Given the description of an element on the screen output the (x, y) to click on. 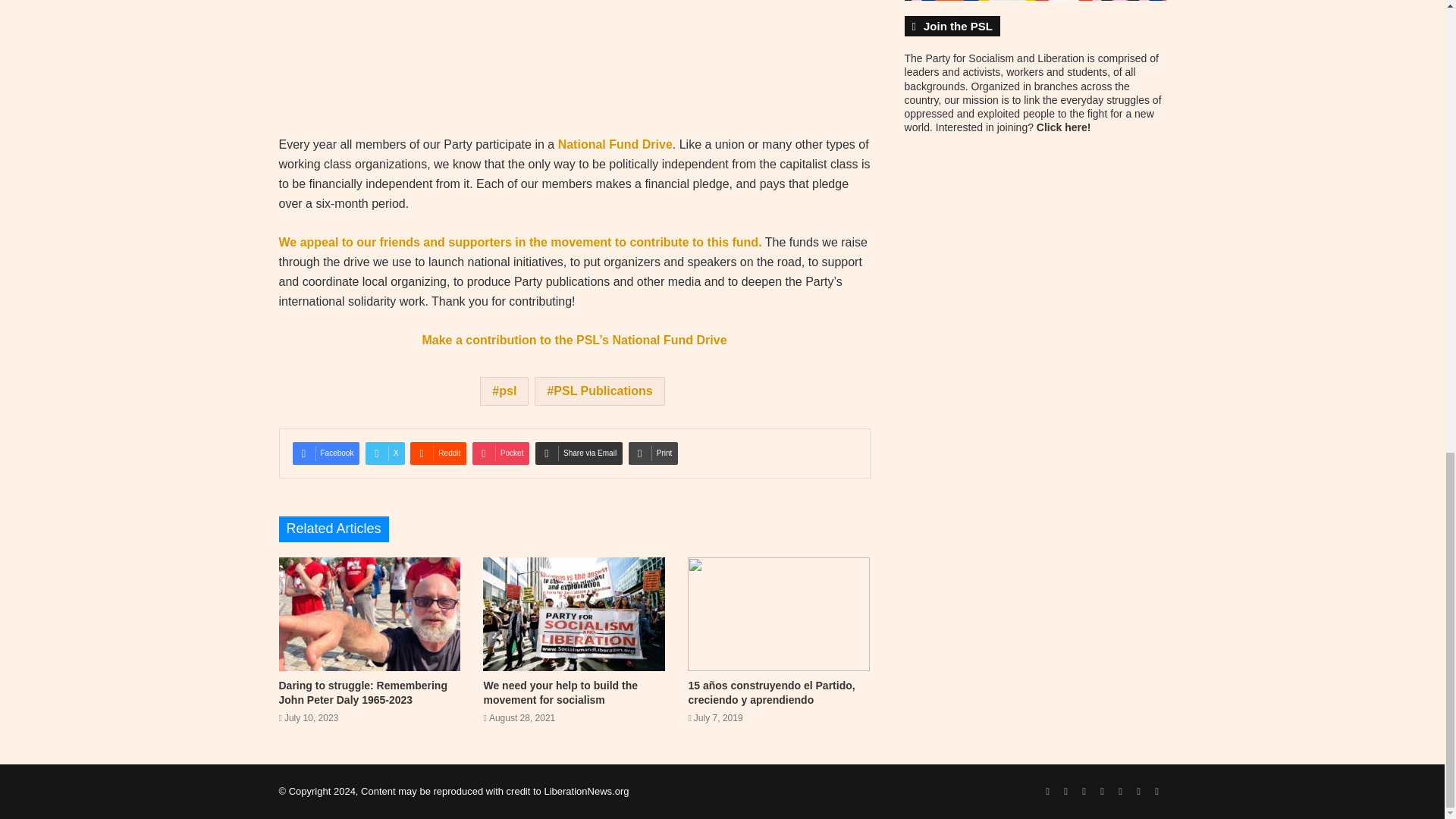
Print (653, 453)
Facebook (325, 453)
Reddit (437, 453)
Pocket (500, 453)
National Fund Drive (614, 144)
Share via Email (579, 453)
X (384, 453)
